Given the description of an element on the screen output the (x, y) to click on. 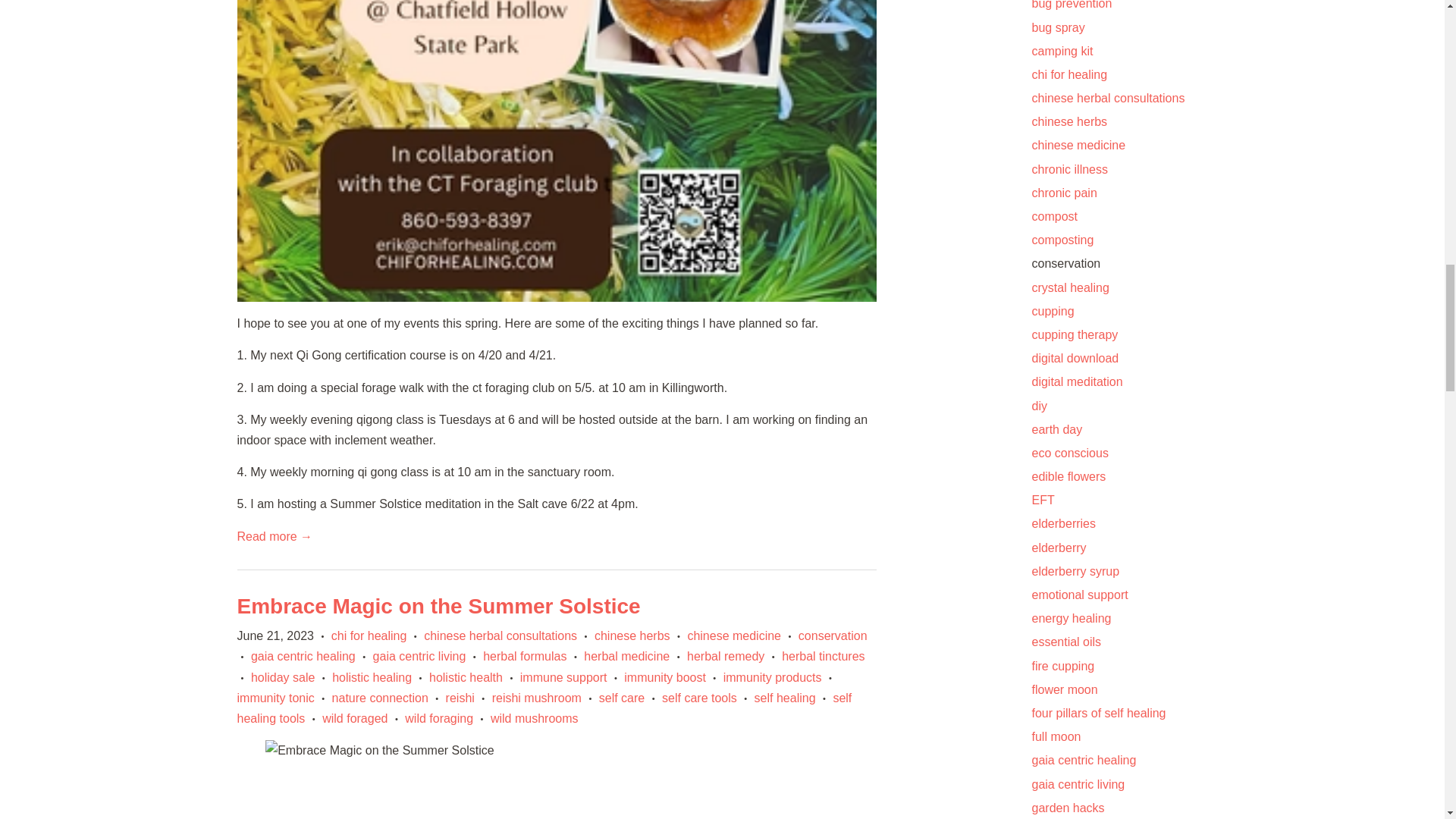
Show articles tagged chronic pain (1063, 192)
Show articles tagged chinese herbs (1068, 121)
Show articles tagged chinese herbal consultations (1107, 97)
Show articles tagged bug prevention (1071, 4)
Show articles tagged chi for healing (1068, 74)
Show articles tagged cupping (1052, 310)
Show articles tagged cupping therapy (1074, 334)
Show articles tagged composting (1061, 239)
Show articles tagged chronic illness (1068, 169)
Show articles tagged bug spray (1057, 27)
